Given the description of an element on the screen output the (x, y) to click on. 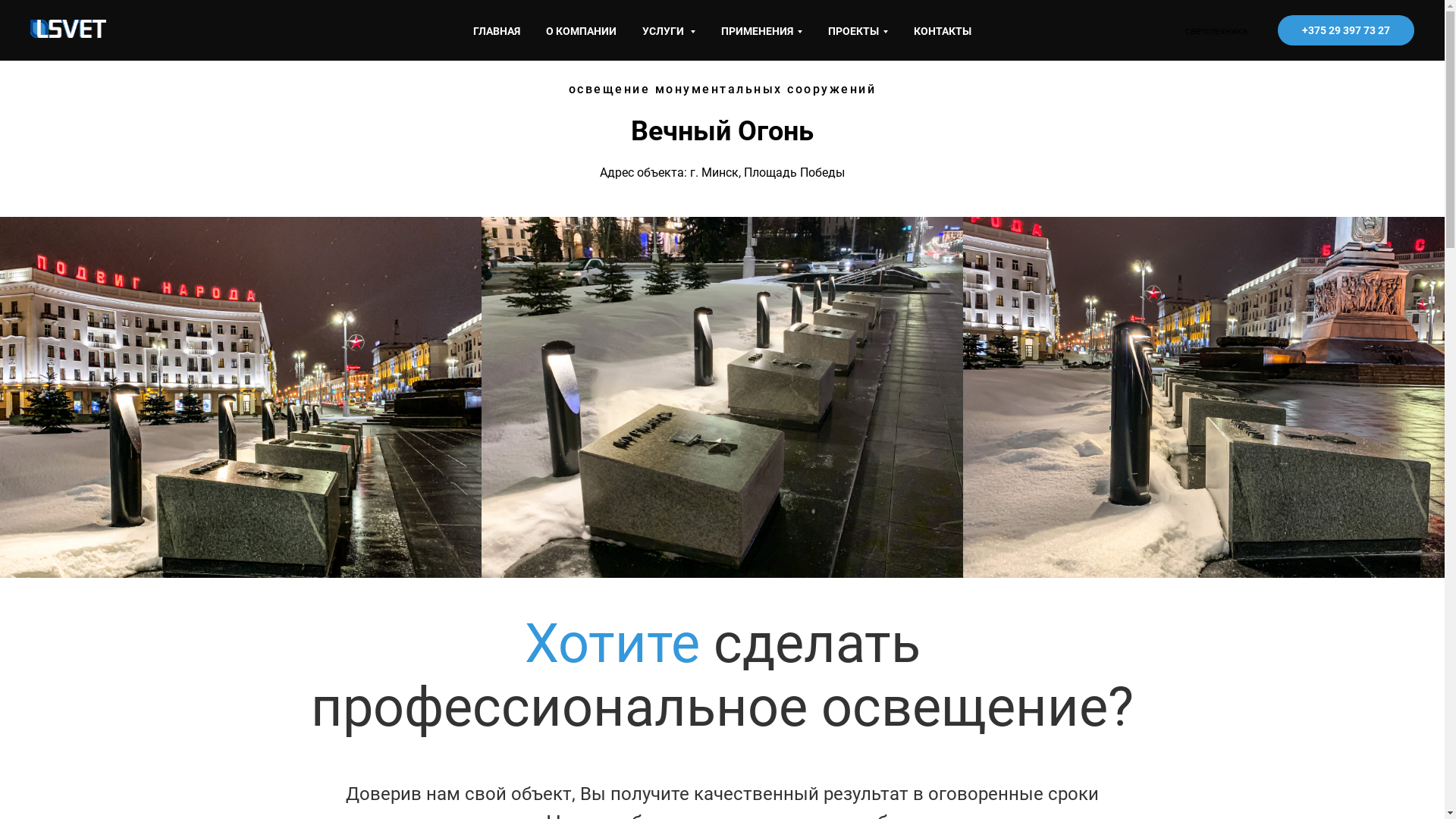
+375 29 397 73 27 Element type: text (1345, 30)
